Given the description of an element on the screen output the (x, y) to click on. 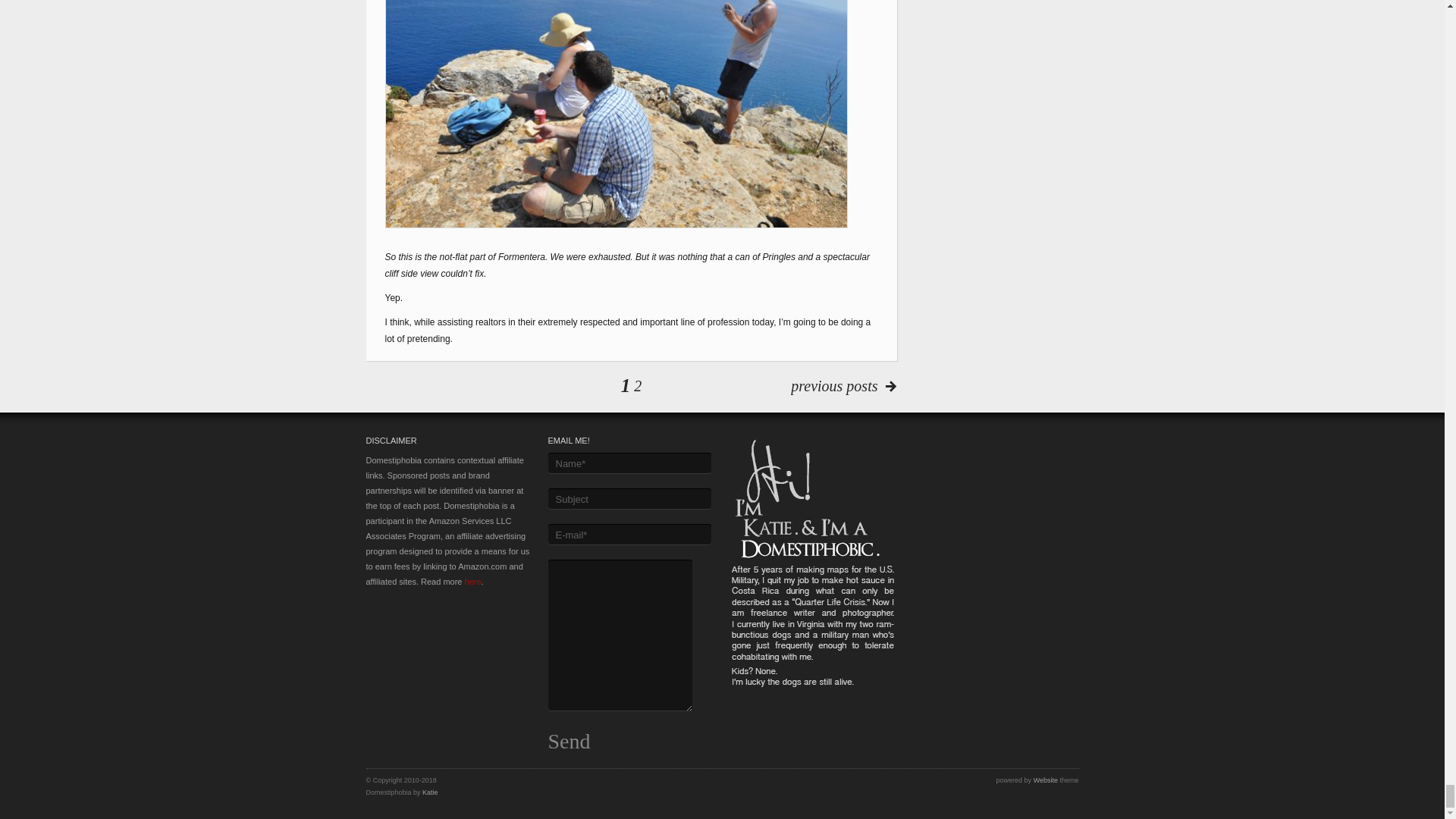
Send (568, 741)
